Given the description of an element on the screen output the (x, y) to click on. 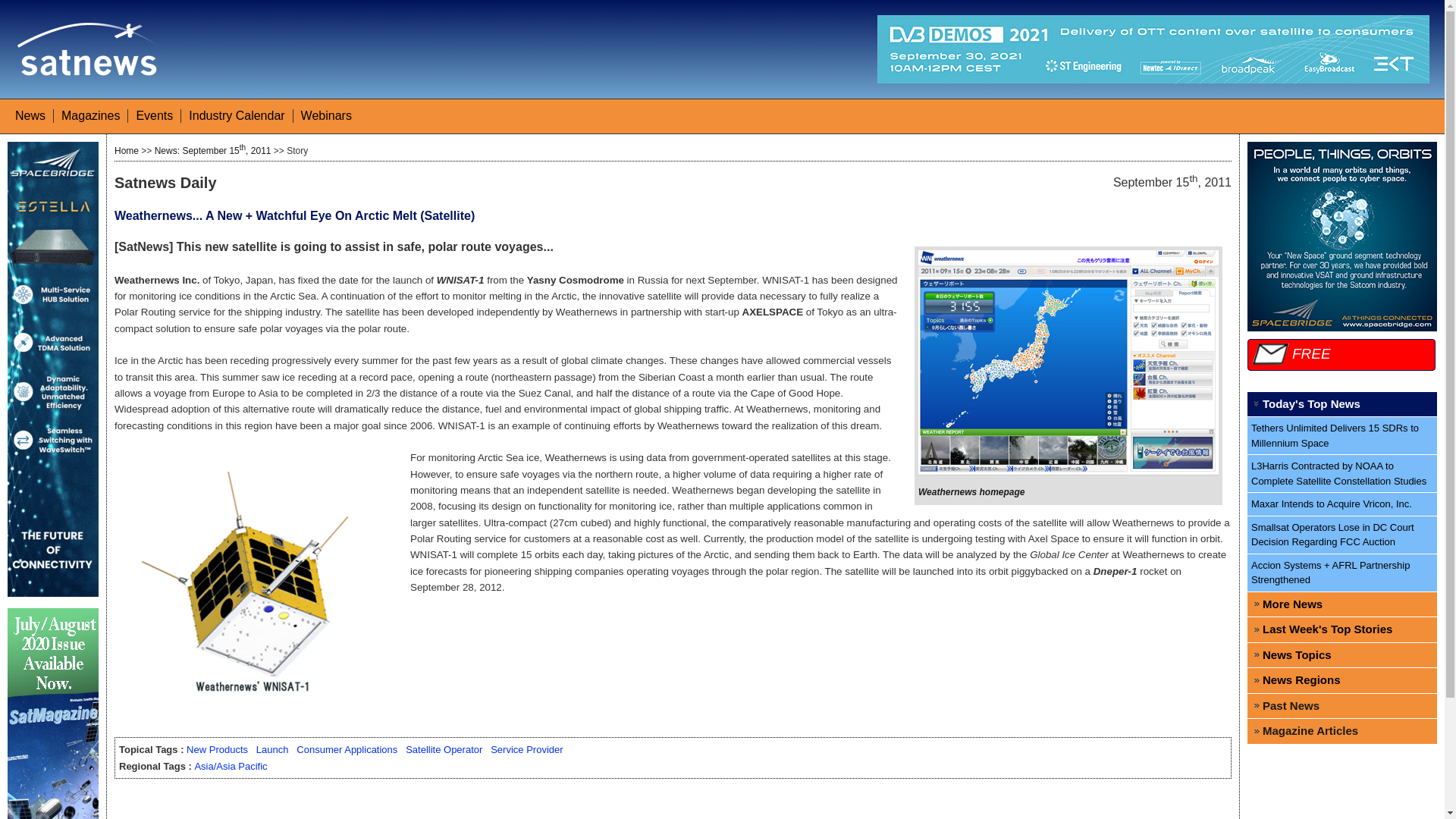
Industry Calendar (236, 115)
Satellite Operator (443, 749)
Launch (272, 749)
Tethers Unlimited Delivers 15 SDRs to Millennium Space (1342, 435)
Events (154, 115)
Magazines (90, 115)
Consumer Applications (347, 749)
Service Provider (526, 749)
News: September 15th, 2011 (212, 150)
News (29, 115)
Home (126, 150)
Weathernews homepage (971, 491)
New Products (216, 749)
